Given the description of an element on the screen output the (x, y) to click on. 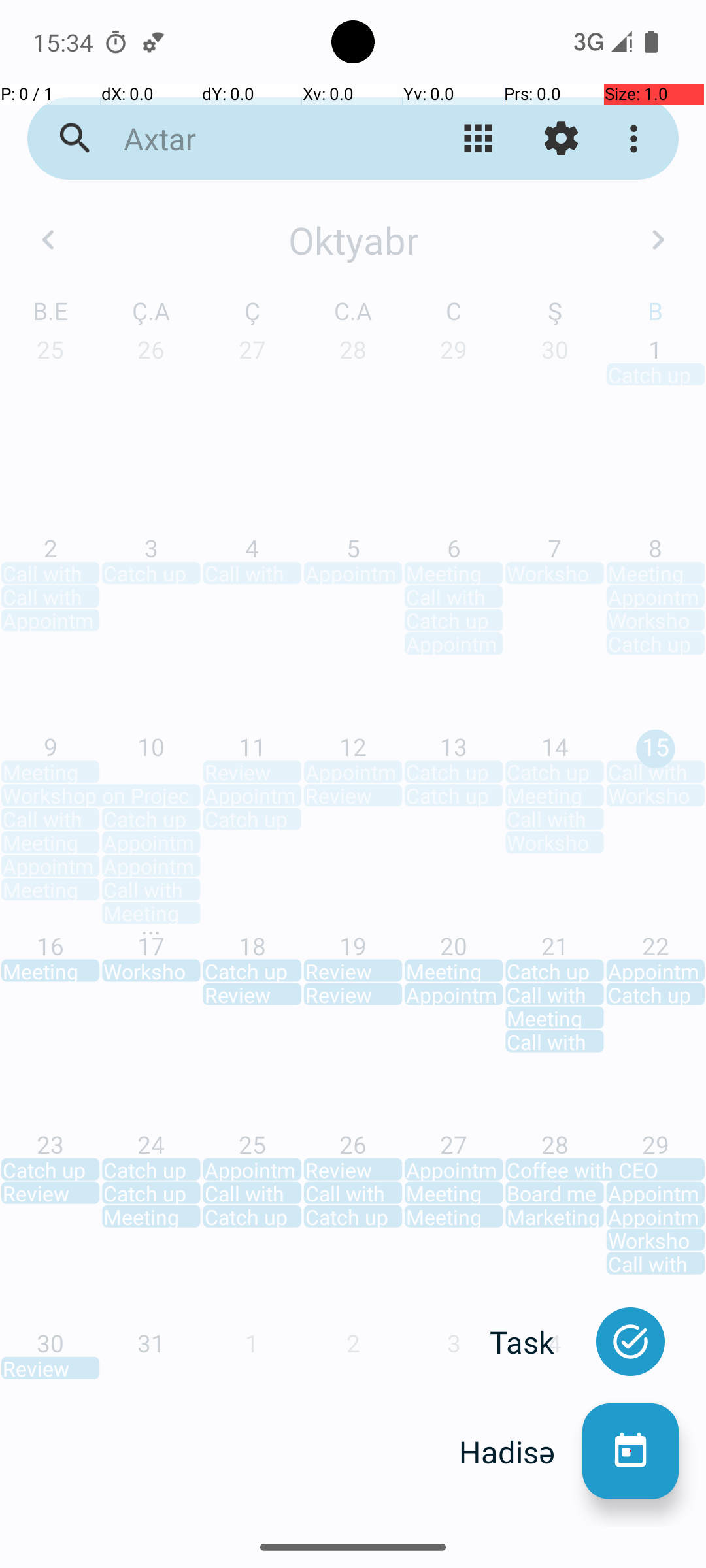
Axtar Element type: android.widget.EditText (252, 138)
Görünüşü dəyiş Element type: android.widget.Button (477, 138)
Parametrlər Element type: android.widget.Button (560, 138)
Digər seçimlər Element type: android.widget.ImageView (636, 138)
Hadisə Element type: android.widget.TextView (520, 1451)
Yeni Hadisə Element type: android.widget.ImageButton (630, 1451)
Oktyabr Element type: android.widget.TextView (352, 239)
